Given the description of an element on the screen output the (x, y) to click on. 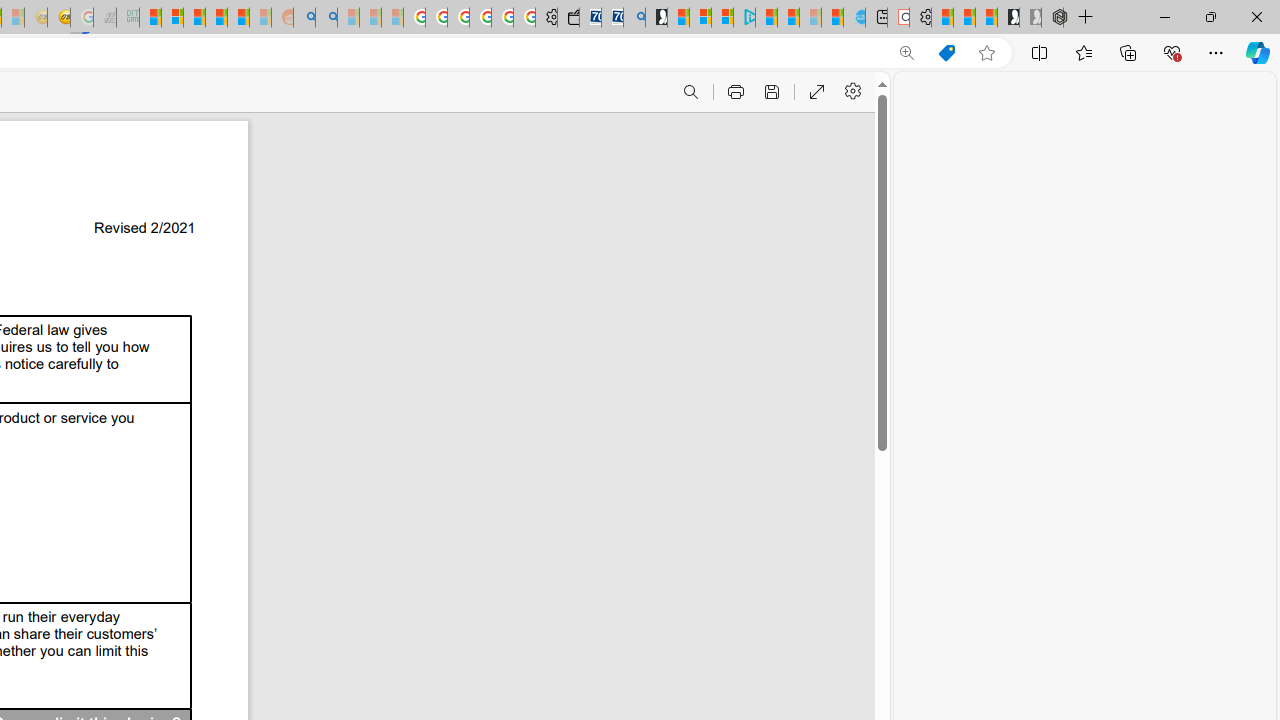
Settings and more (852, 92)
Print (Ctrl+P) (734, 92)
Enter PDF full screen (815, 92)
Utah sues federal government - Search (326, 17)
